Given the description of an element on the screen output the (x, y) to click on. 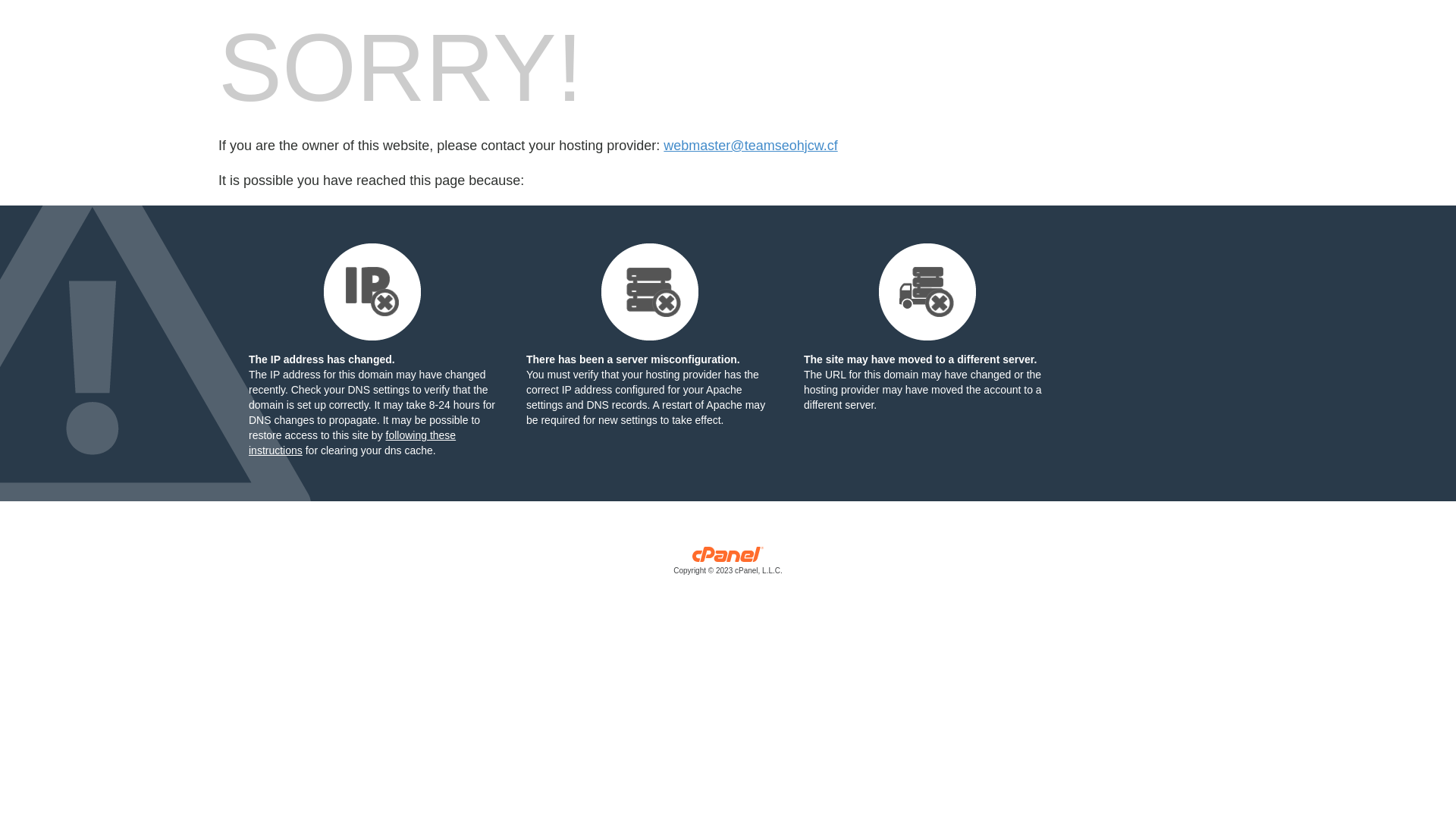
webmaster@teamseohjcw.cf Element type: text (750, 145)
following these instructions Element type: text (351, 442)
